Given the description of an element on the screen output the (x, y) to click on. 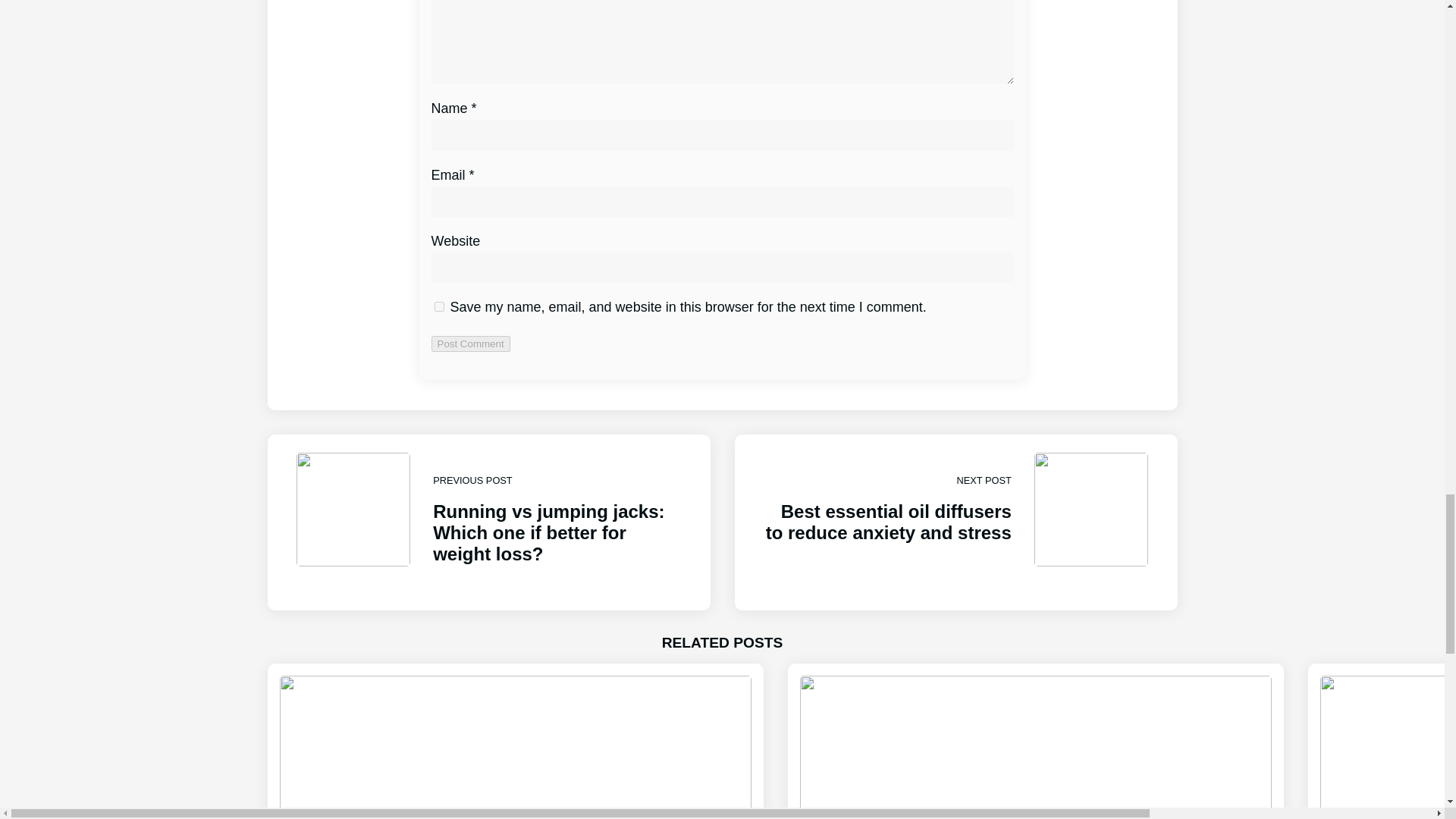
Post Comment (469, 343)
yes (438, 307)
Post Comment (469, 343)
